Given the description of an element on the screen output the (x, y) to click on. 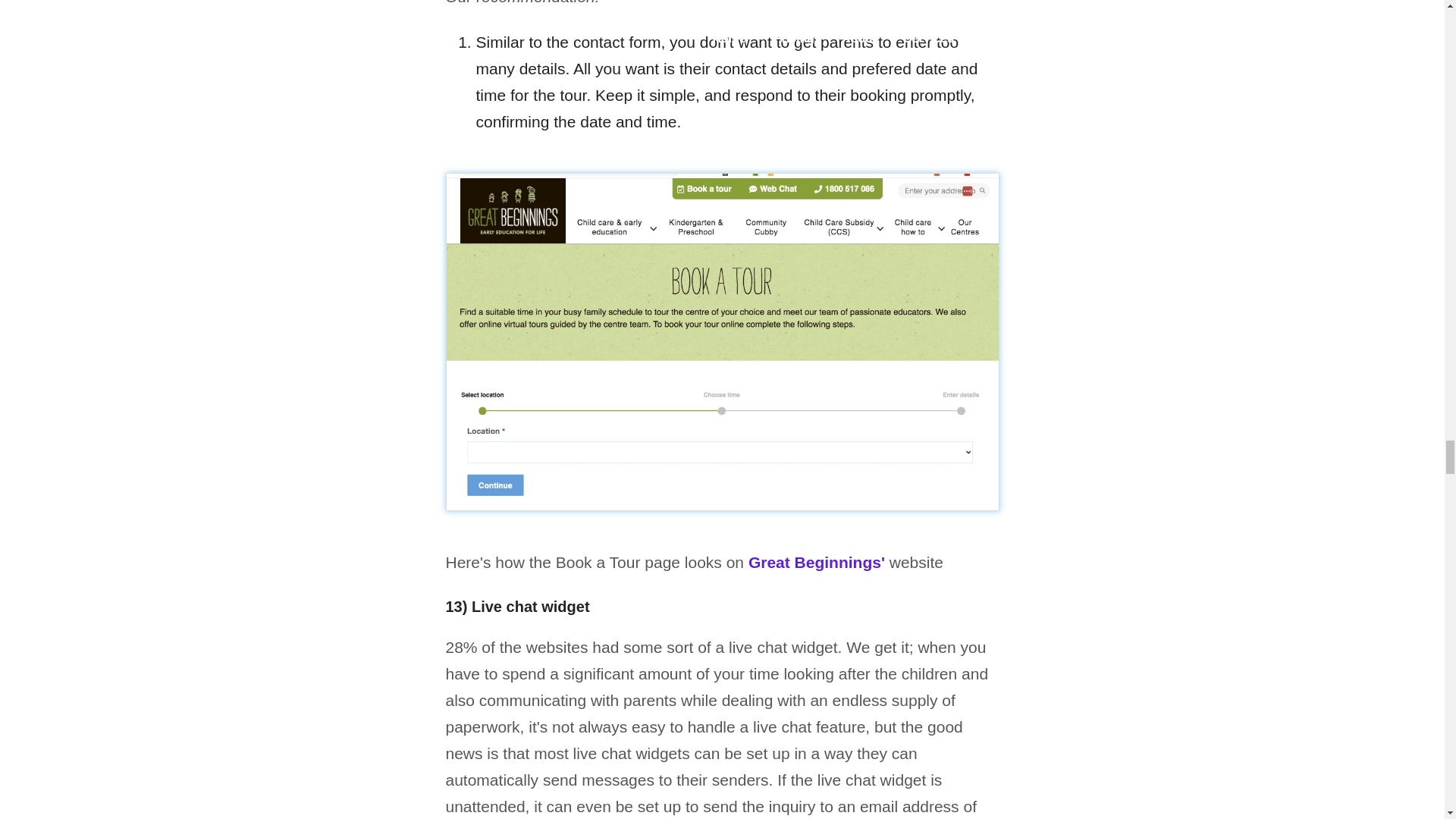
Great Beginnings' (816, 561)
